Given the description of an element on the screen output the (x, y) to click on. 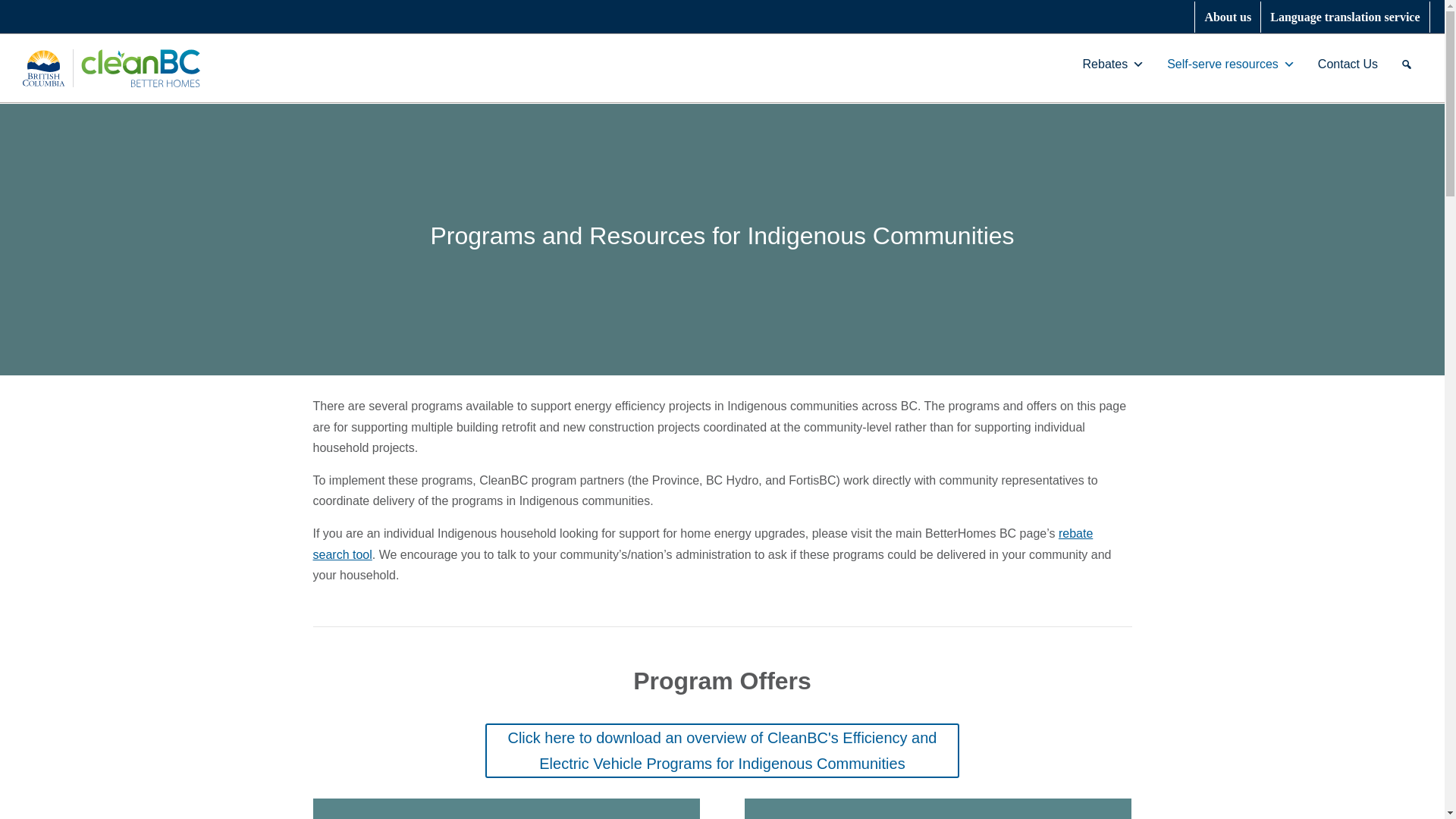
Self-serve resources (1227, 64)
Rebates (1110, 64)
Search (750, 209)
Language translation service (1344, 16)
About us (1226, 16)
Contact Us (1344, 64)
